Given the description of an element on the screen output the (x, y) to click on. 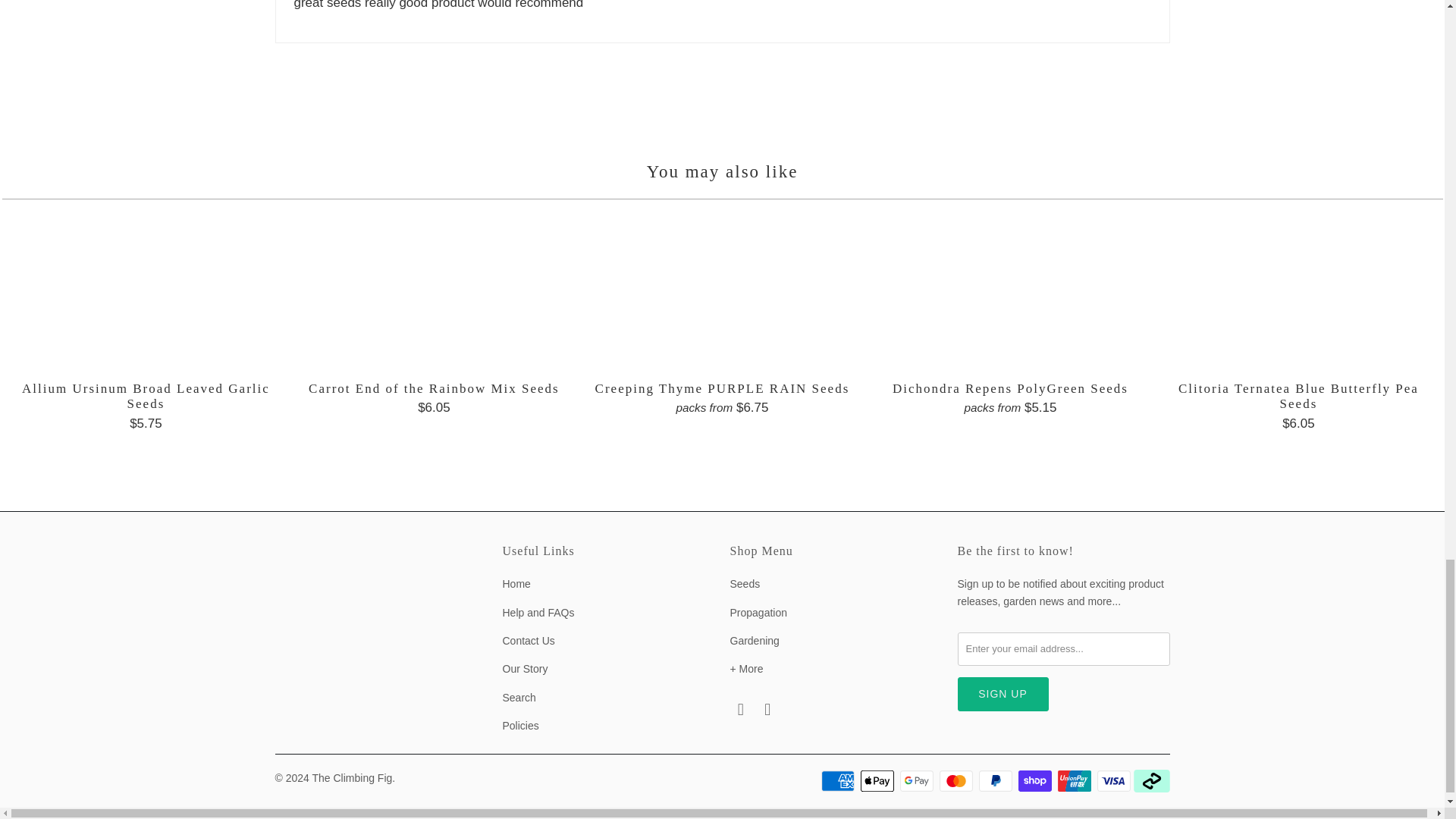
American Express (839, 780)
Mastercard (957, 780)
Sign Up (1002, 694)
Union Pay (1076, 780)
Apple Pay (878, 780)
Google Pay (917, 780)
Shop Pay (1035, 780)
Visa (1114, 780)
PayPal (996, 780)
